Given the description of an element on the screen output the (x, y) to click on. 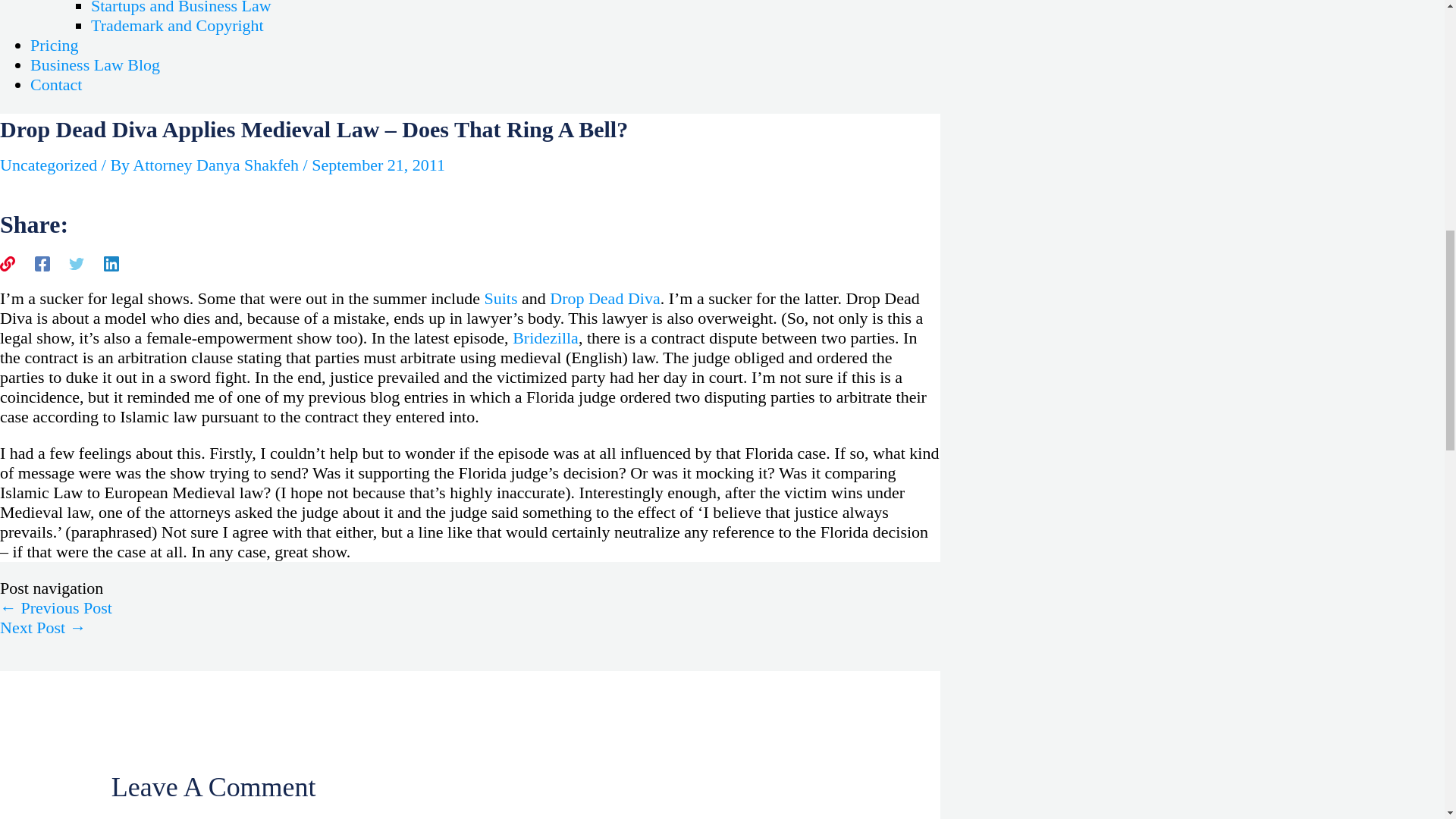
Uncategorized (48, 164)
Business Law Blog (95, 64)
Attorney Danya Shakfeh (217, 164)
Meeting Lilly Ledbetter, a Woman of Influence (56, 607)
Contact (55, 84)
View all posts by Attorney Danya Shakfeh (217, 164)
Suits (499, 298)
Drop Dead Diva (604, 298)
Trademark and Copyright (176, 25)
Startups and Business Law (180, 7)
Pricing (54, 45)
Bridezilla (545, 337)
What's Your Fraud IQ? (42, 627)
